Given the description of an element on the screen output the (x, y) to click on. 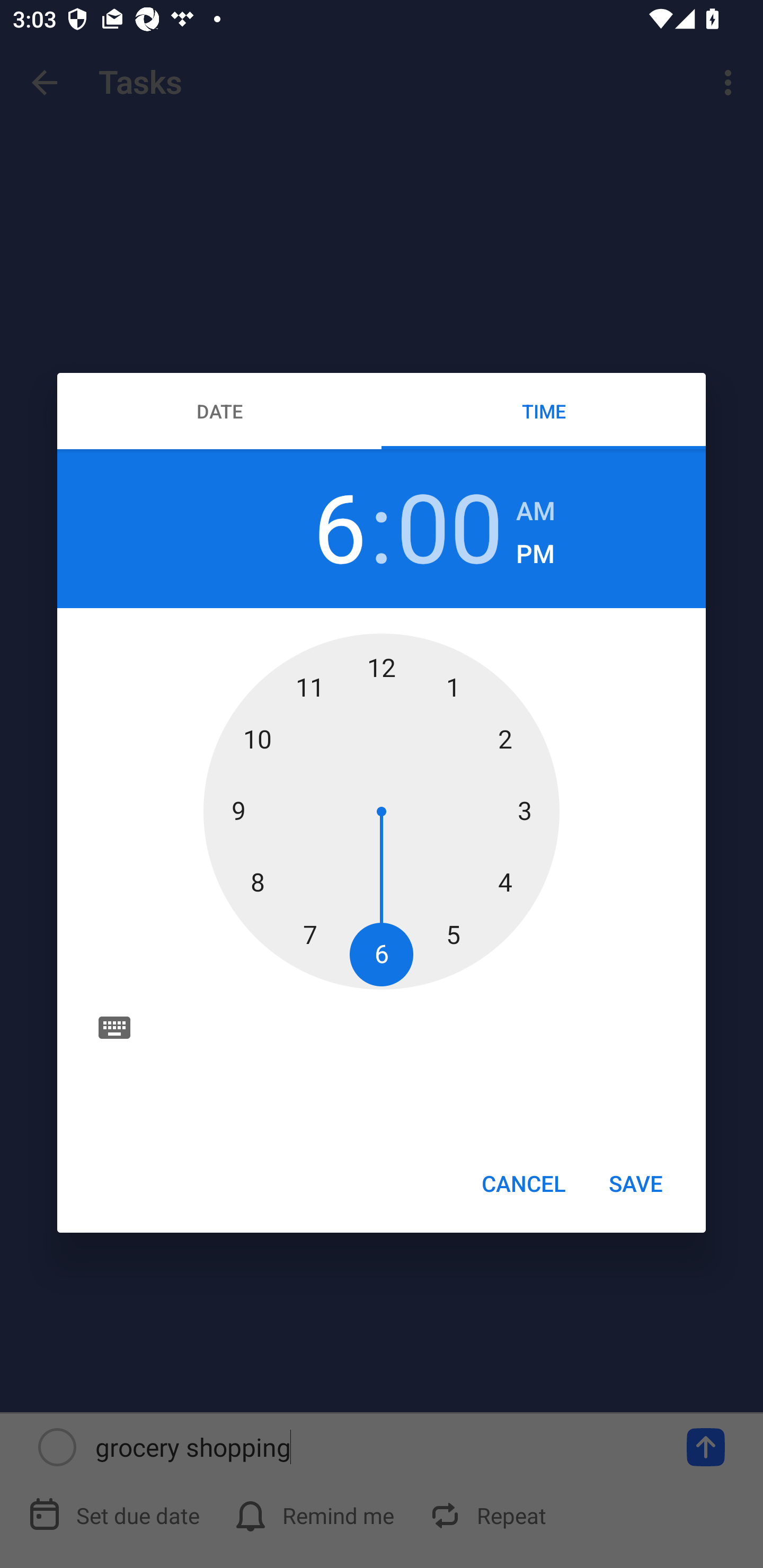
SAVE (635, 1182)
